Given the description of an element on the screen output the (x, y) to click on. 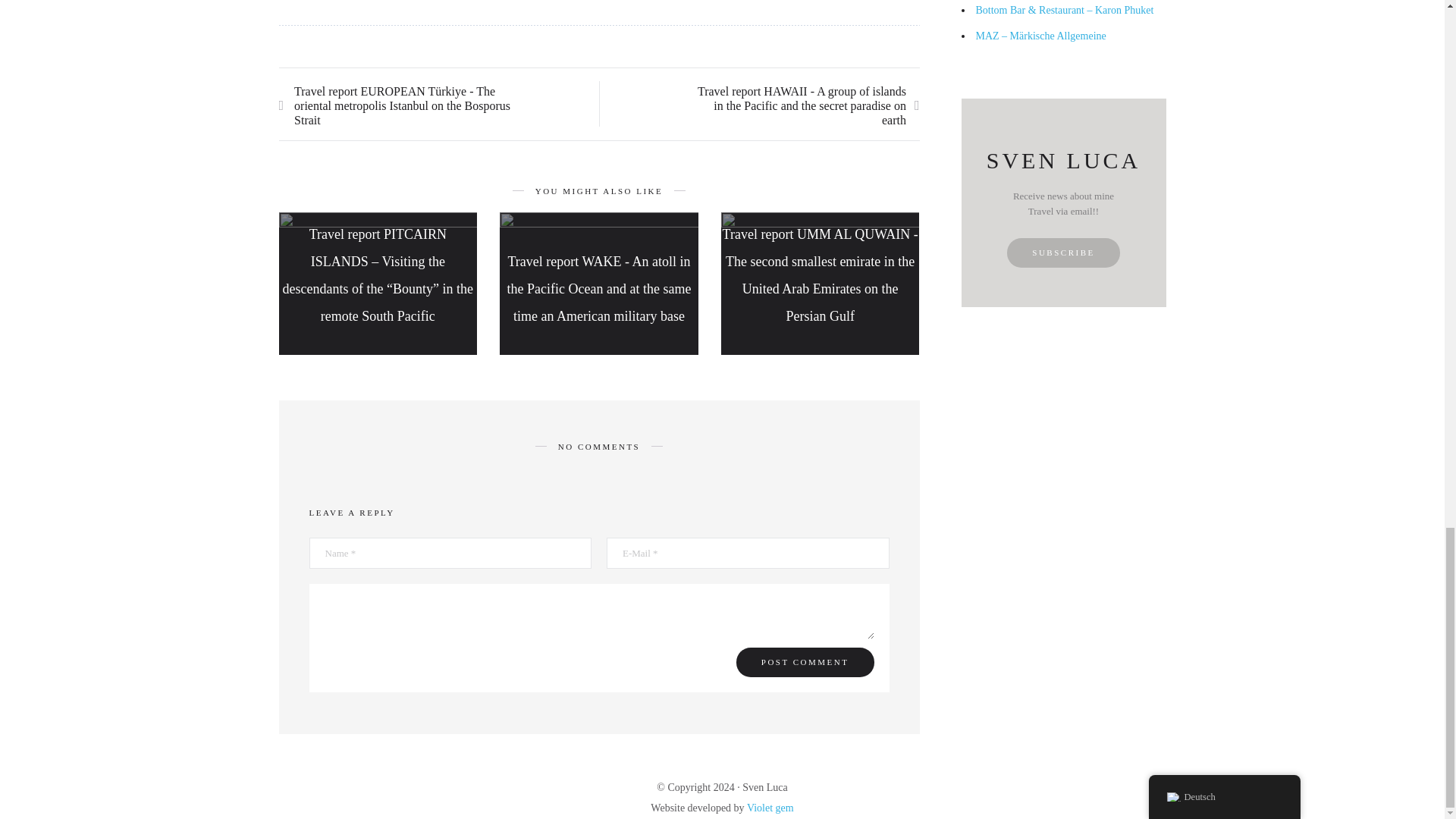
Post comment (805, 662)
